Given the description of an element on the screen output the (x, y) to click on. 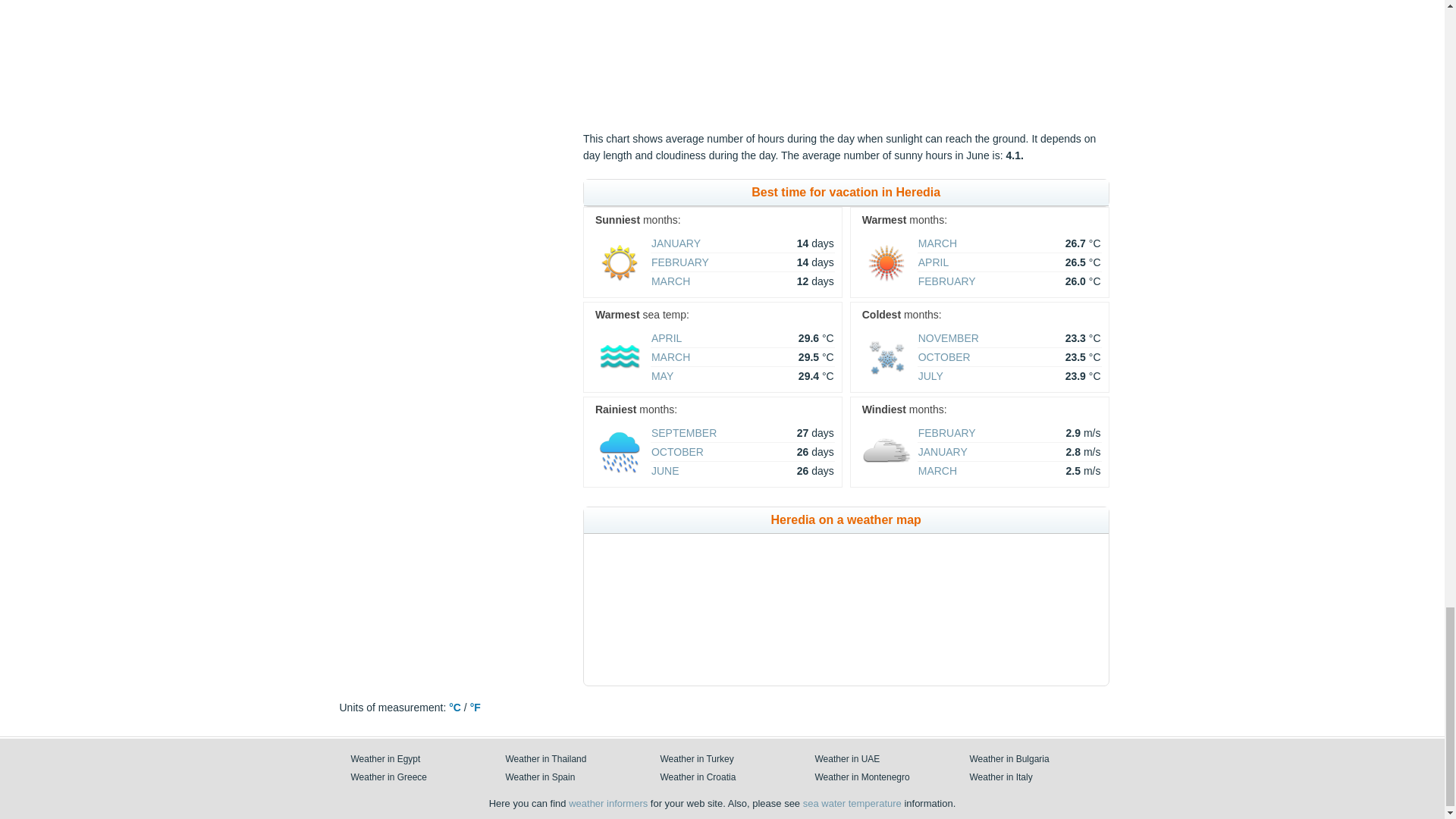
APRIL (933, 262)
FEBRUARY (946, 281)
APRIL (665, 337)
MARCH (670, 281)
FEBRUARY (679, 262)
JANUARY (675, 243)
MAY (661, 376)
NOVEMBER (948, 337)
MARCH (937, 243)
MARCH (670, 357)
